Given the description of an element on the screen output the (x, y) to click on. 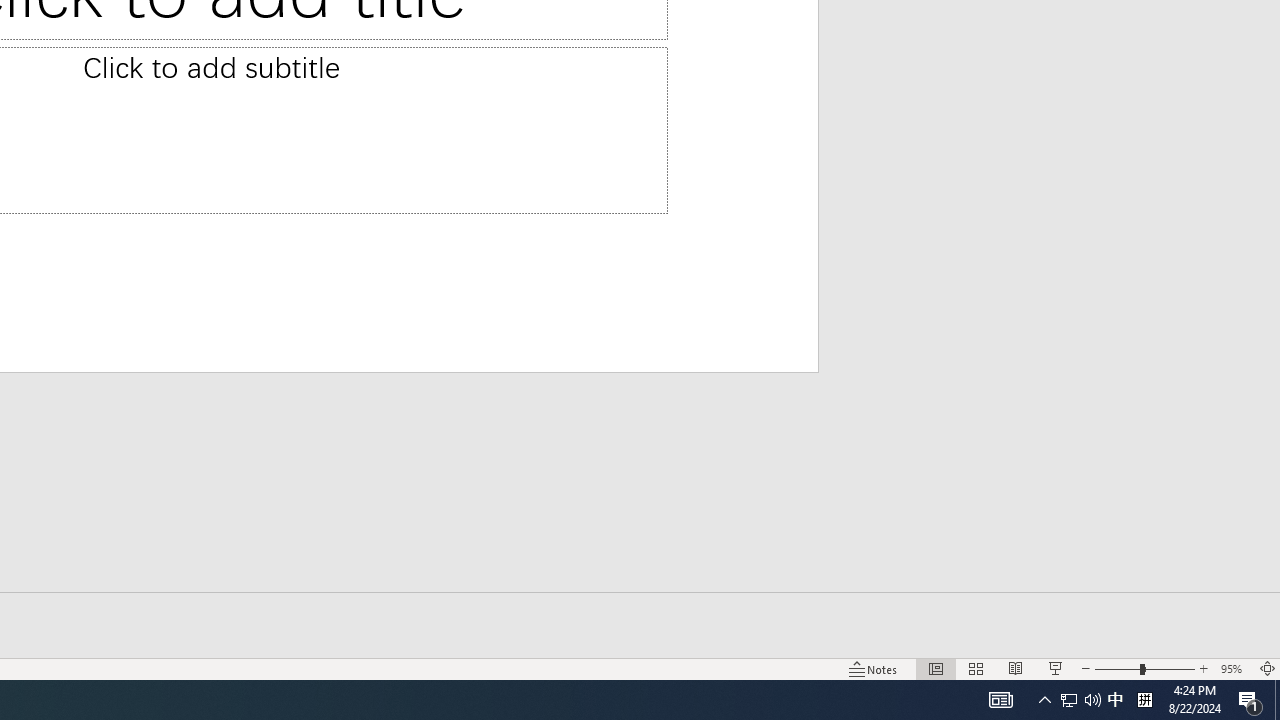
Zoom 95% (1234, 668)
